Given the description of an element on the screen output the (x, y) to click on. 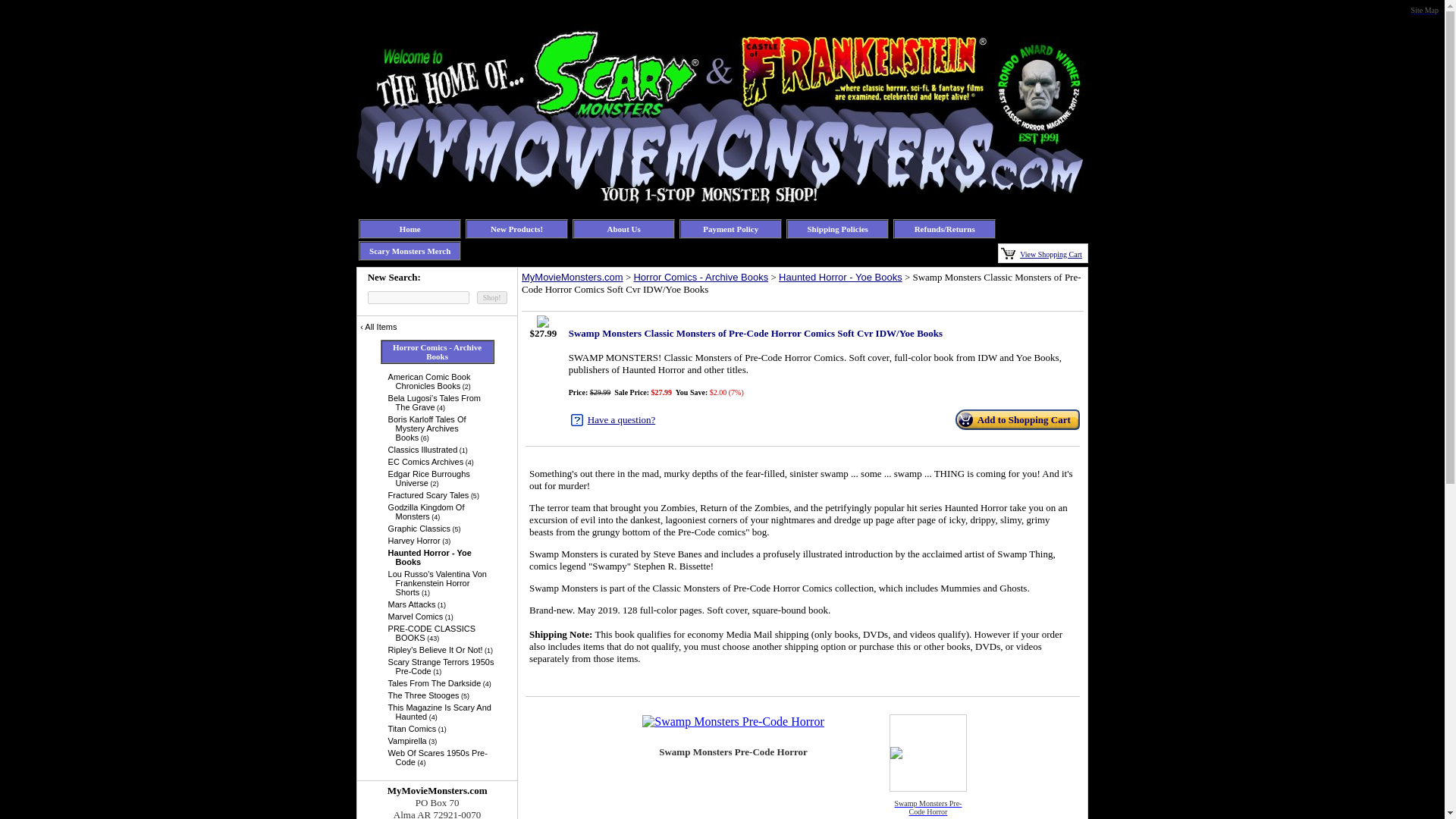
Shop! (491, 297)
About Us (623, 228)
Images of Item (802, 761)
Scary Monsters Merch (409, 250)
Payment Policy (730, 228)
Home (409, 228)
New Products! (516, 228)
Shop! (491, 297)
Horror Comics - Archive Books (437, 352)
View Shopping Cart (1050, 252)
Shipping Policies (836, 228)
Haunted Horror - Yoe Books (441, 556)
